Given the description of an element on the screen output the (x, y) to click on. 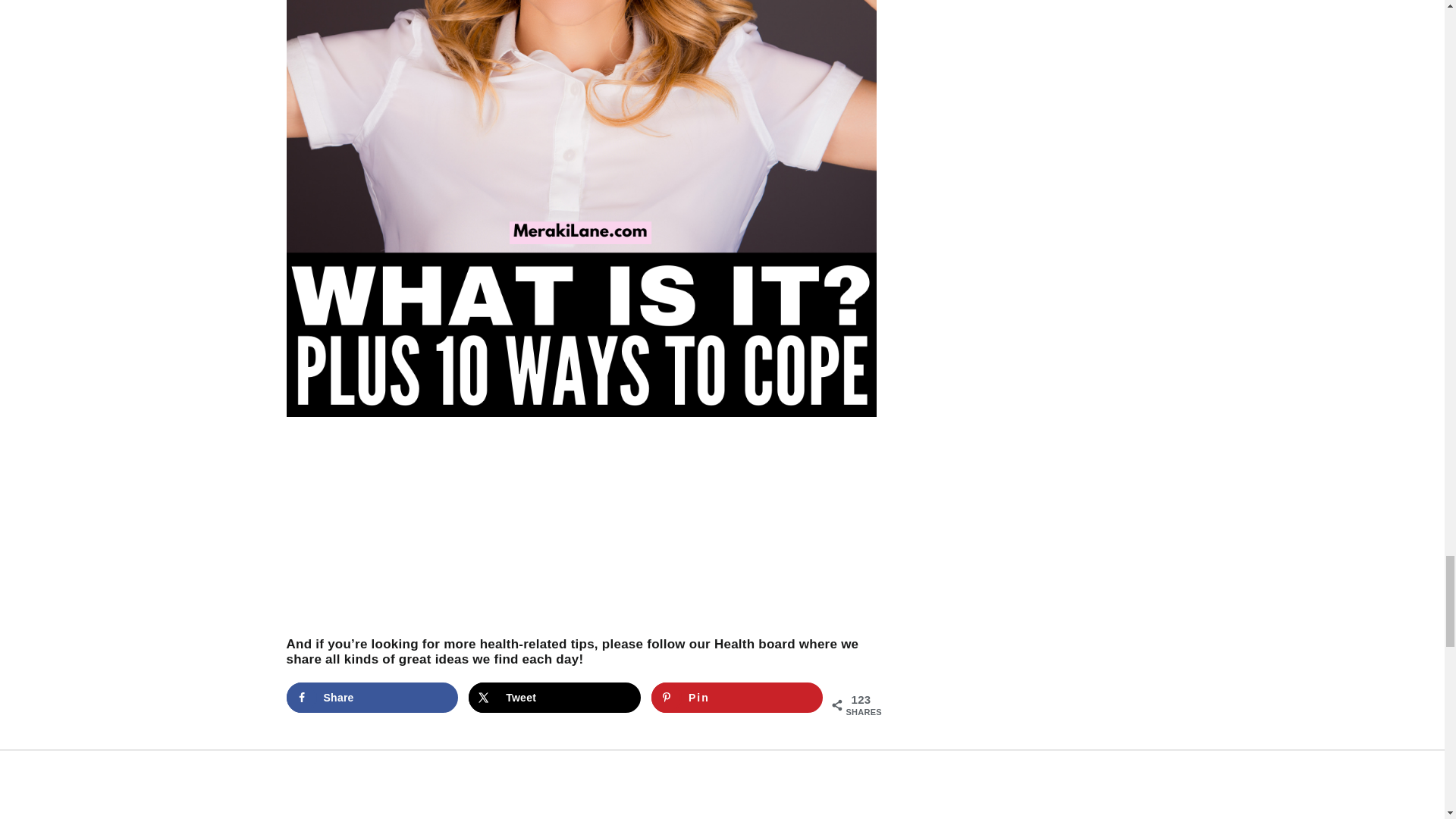
Save to Pinterest (737, 697)
Share on X (554, 697)
Share on Facebook (372, 697)
